Given the description of an element on the screen output the (x, y) to click on. 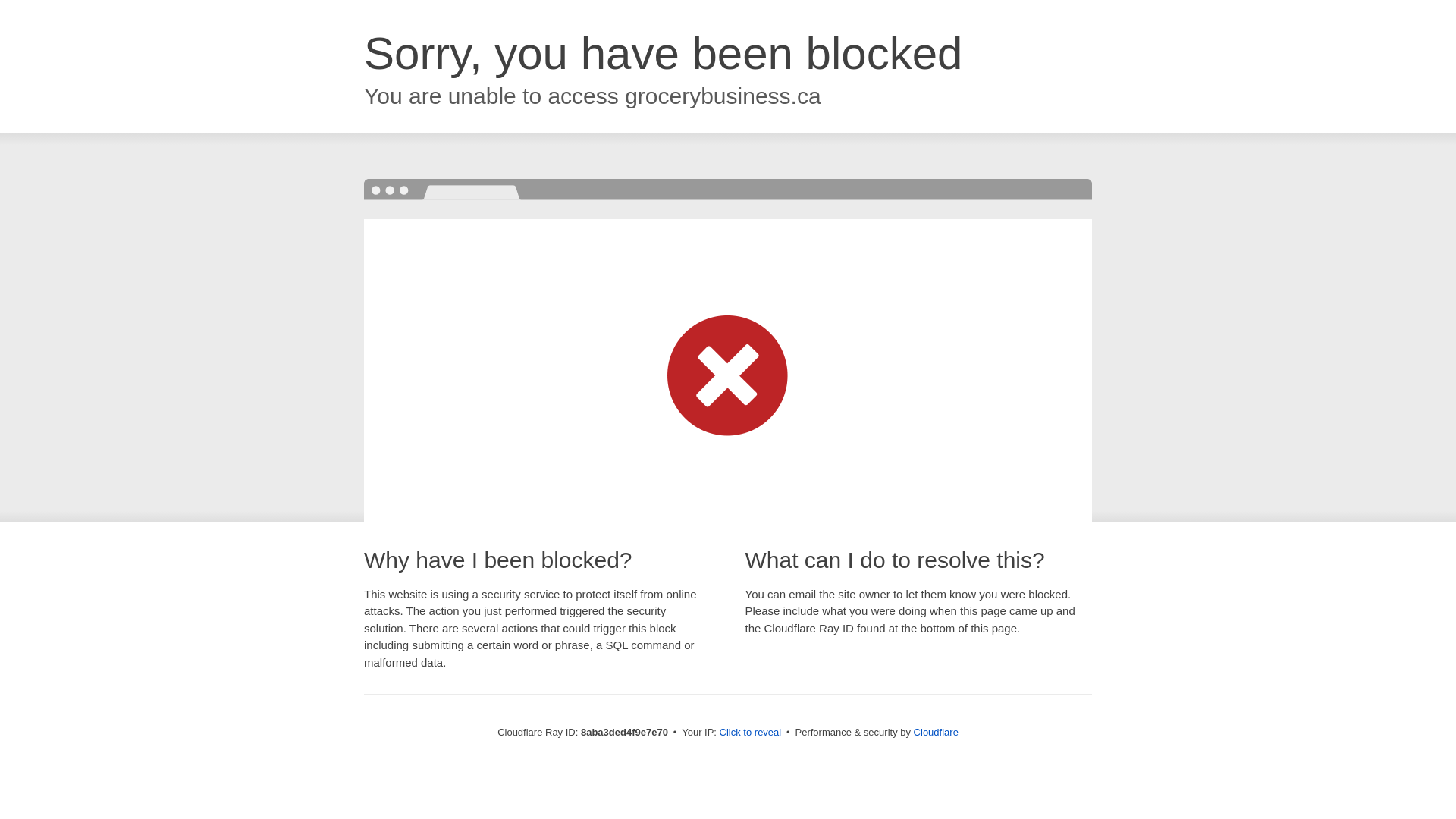
Cloudflare (936, 731)
Click to reveal (750, 732)
